Given the description of an element on the screen output the (x, y) to click on. 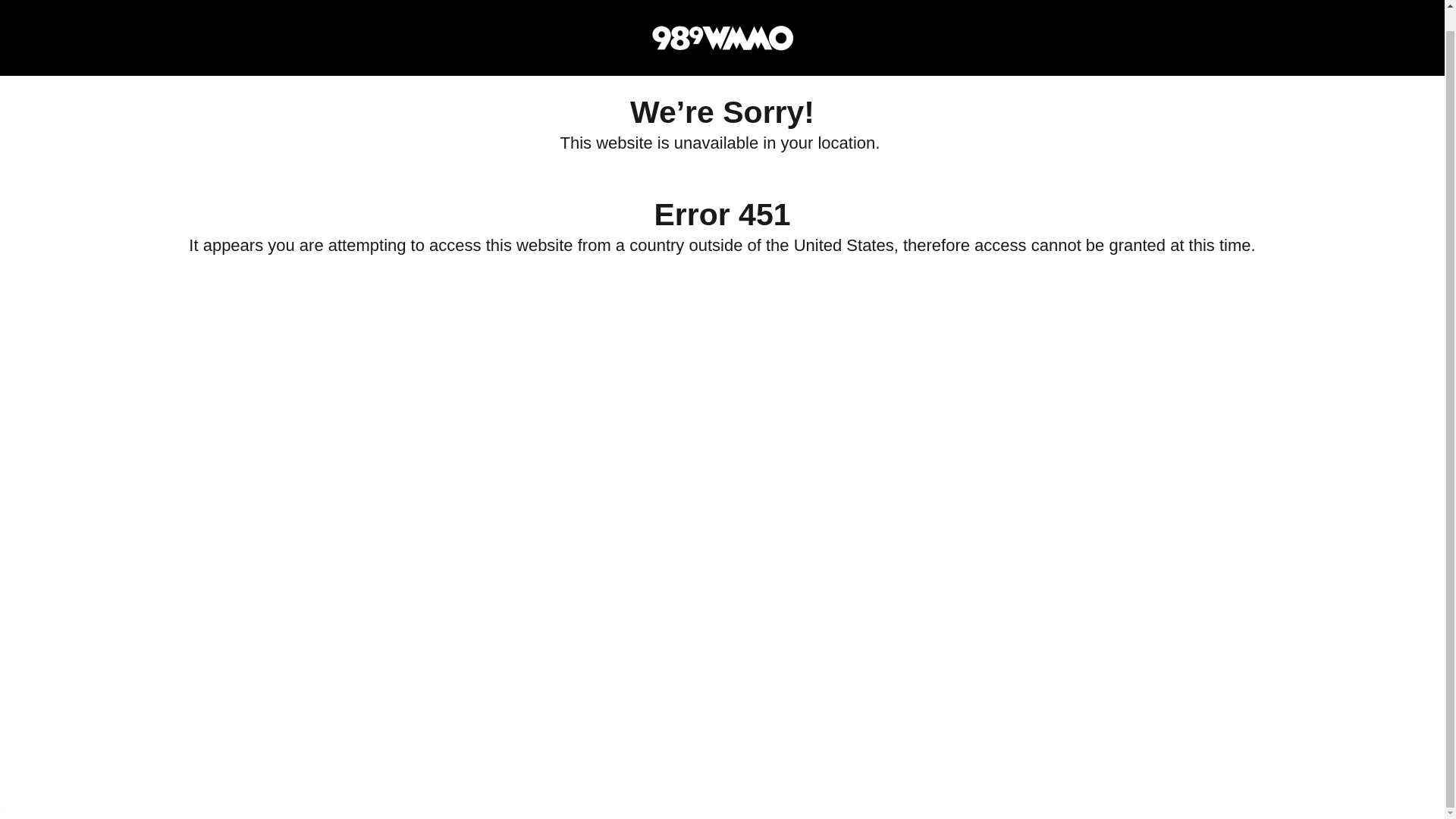
WMMO (721, 17)
